Given the description of an element on the screen output the (x, y) to click on. 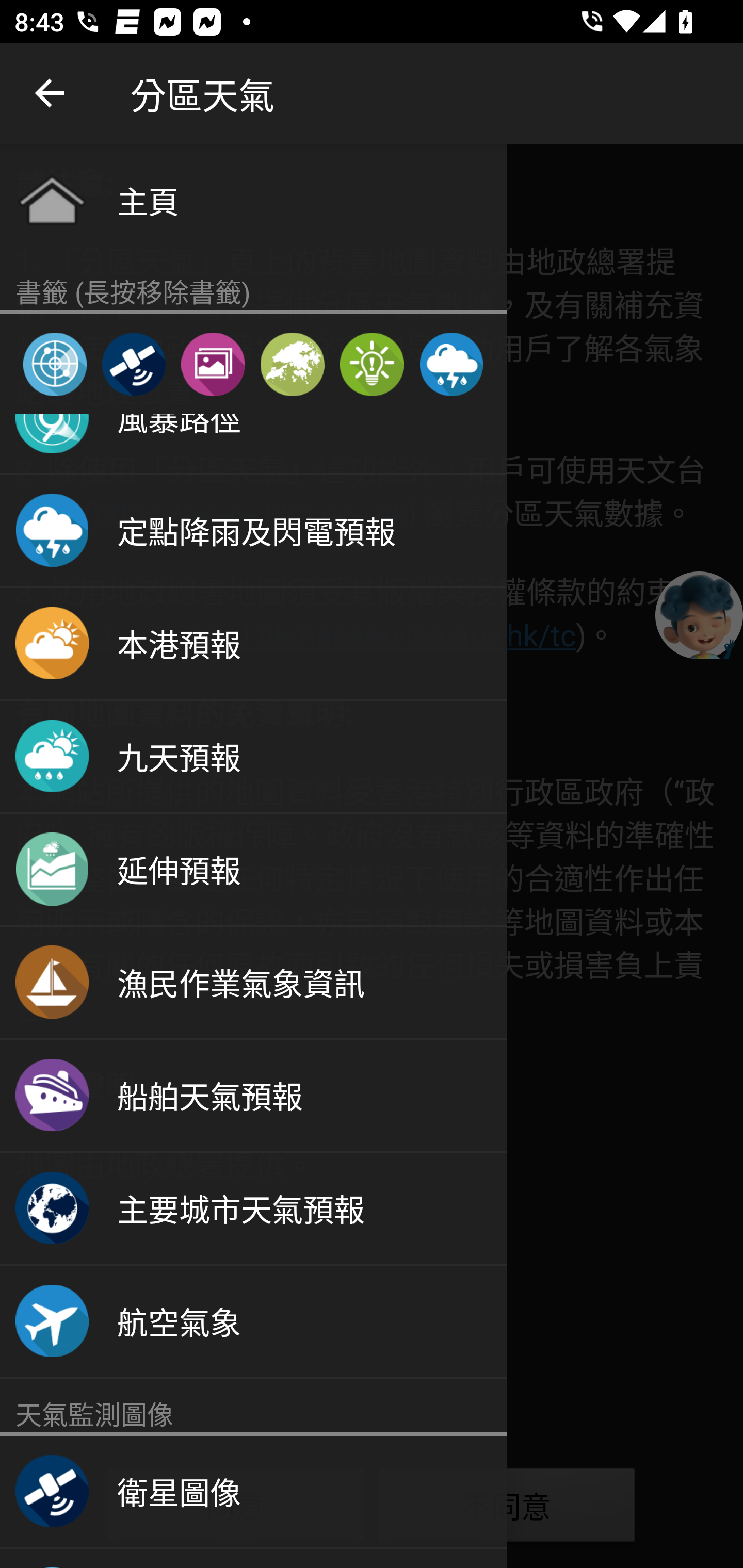
向上瀏覽 (50, 93)
主頁 (253, 199)
雷達圖像 (54, 364)
衛星圖像 (133, 364)
天氣照片 (212, 364)
分區天氣 (292, 364)
天氣提示 (371, 364)
定點降雨及閃電預報 (451, 364)
定點降雨及閃電預報 (253, 531)
本港預報 (253, 644)
九天預報 (253, 756)
延伸預報 (253, 869)
漁民作業氣象資訊 (253, 982)
船舶天氣預報 (253, 1095)
主要城市天氣預報 (253, 1208)
航空氣象 (253, 1321)
衛星圖像 (253, 1491)
